Given the description of an element on the screen output the (x, y) to click on. 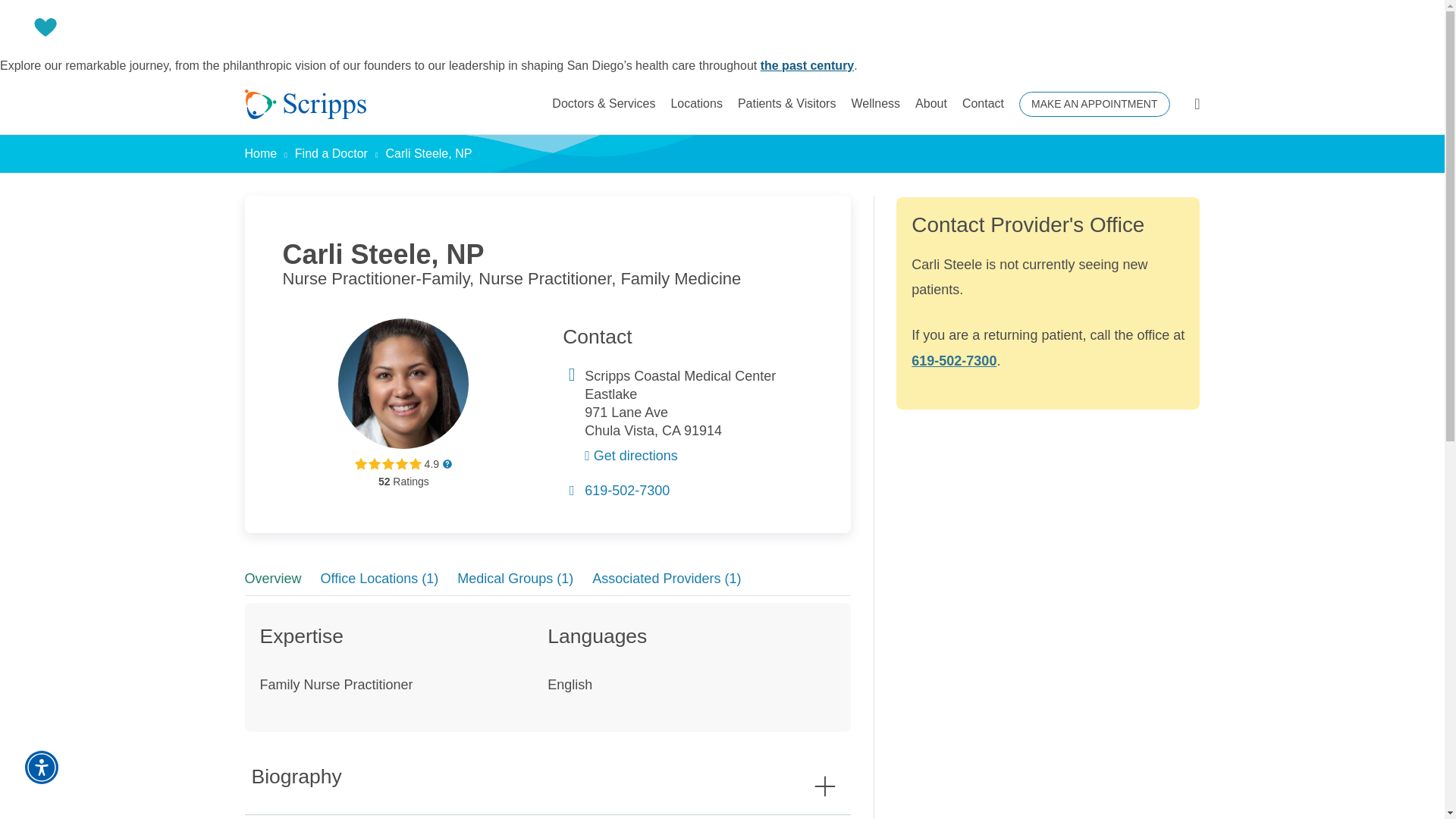
the past century (807, 65)
Accessibility Menu (41, 767)
619-502-7300 (627, 490)
California (670, 430)
Locations (695, 104)
91914 (703, 430)
